Given the description of an element on the screen output the (x, y) to click on. 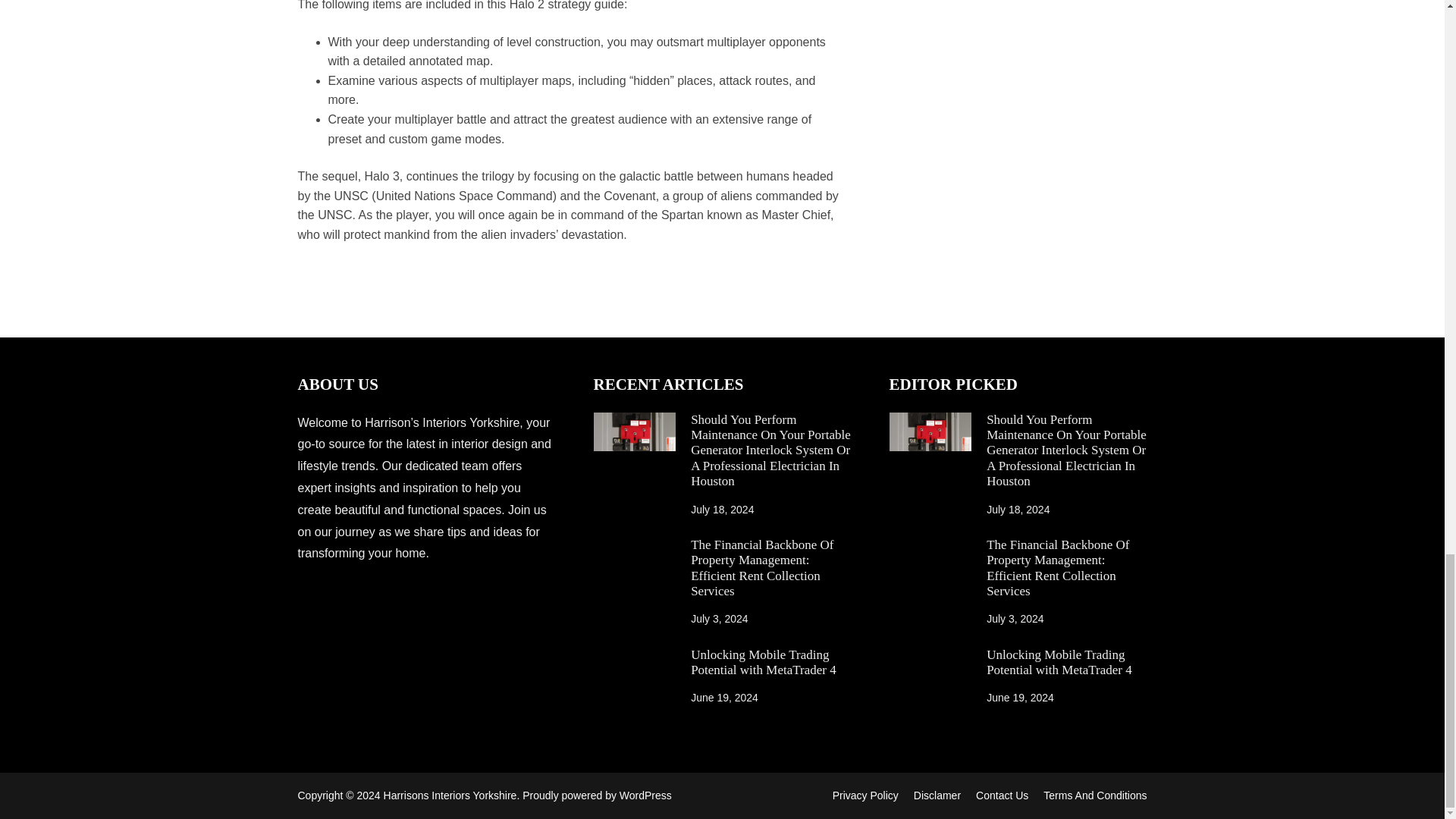
Harrisons Interiors Yorkshire (450, 795)
